Given the description of an element on the screen output the (x, y) to click on. 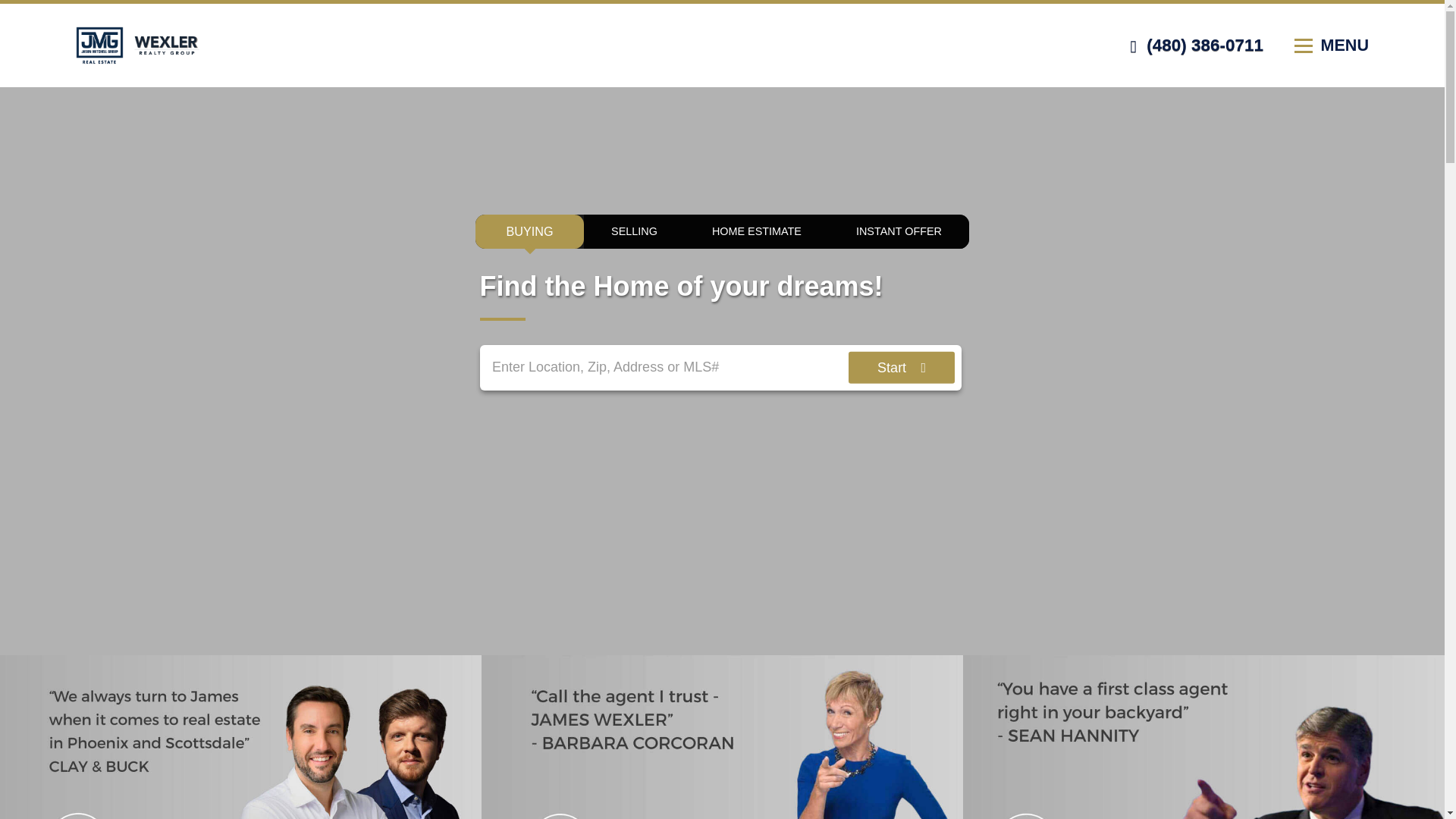
BUYING (529, 231)
MENU (1331, 45)
HOME ESTIMATE (756, 231)
SELLING (633, 231)
Home Page (264, 43)
INSTANT OFFER (898, 231)
Listen Now (240, 737)
Start (901, 368)
Watch Video (721, 737)
